Given the description of an element on the screen output the (x, y) to click on. 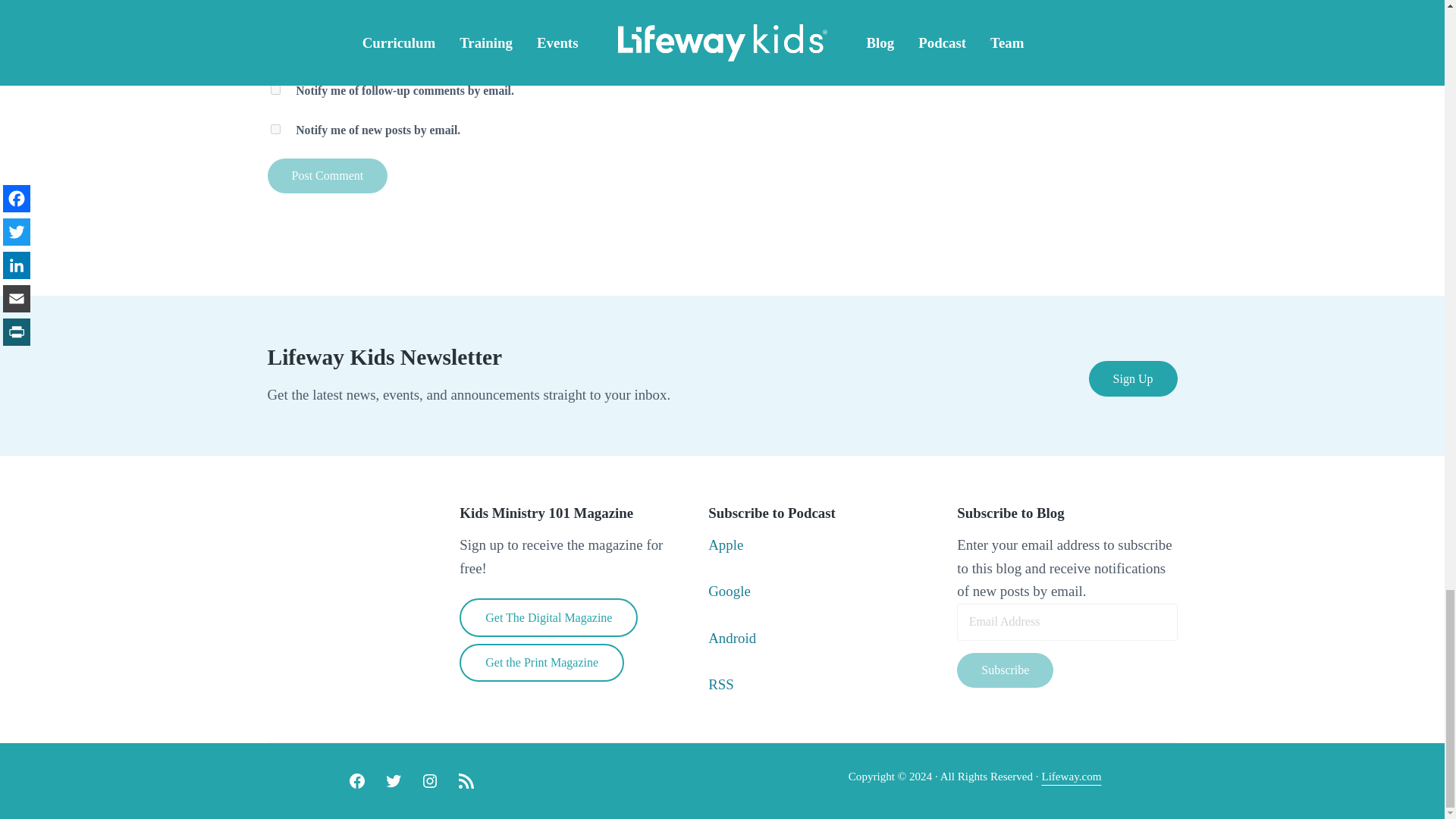
Post Comment (326, 175)
yes (274, 49)
Post Comment (326, 175)
subscribe (274, 129)
subscribe (274, 90)
